Given the description of an element on the screen output the (x, y) to click on. 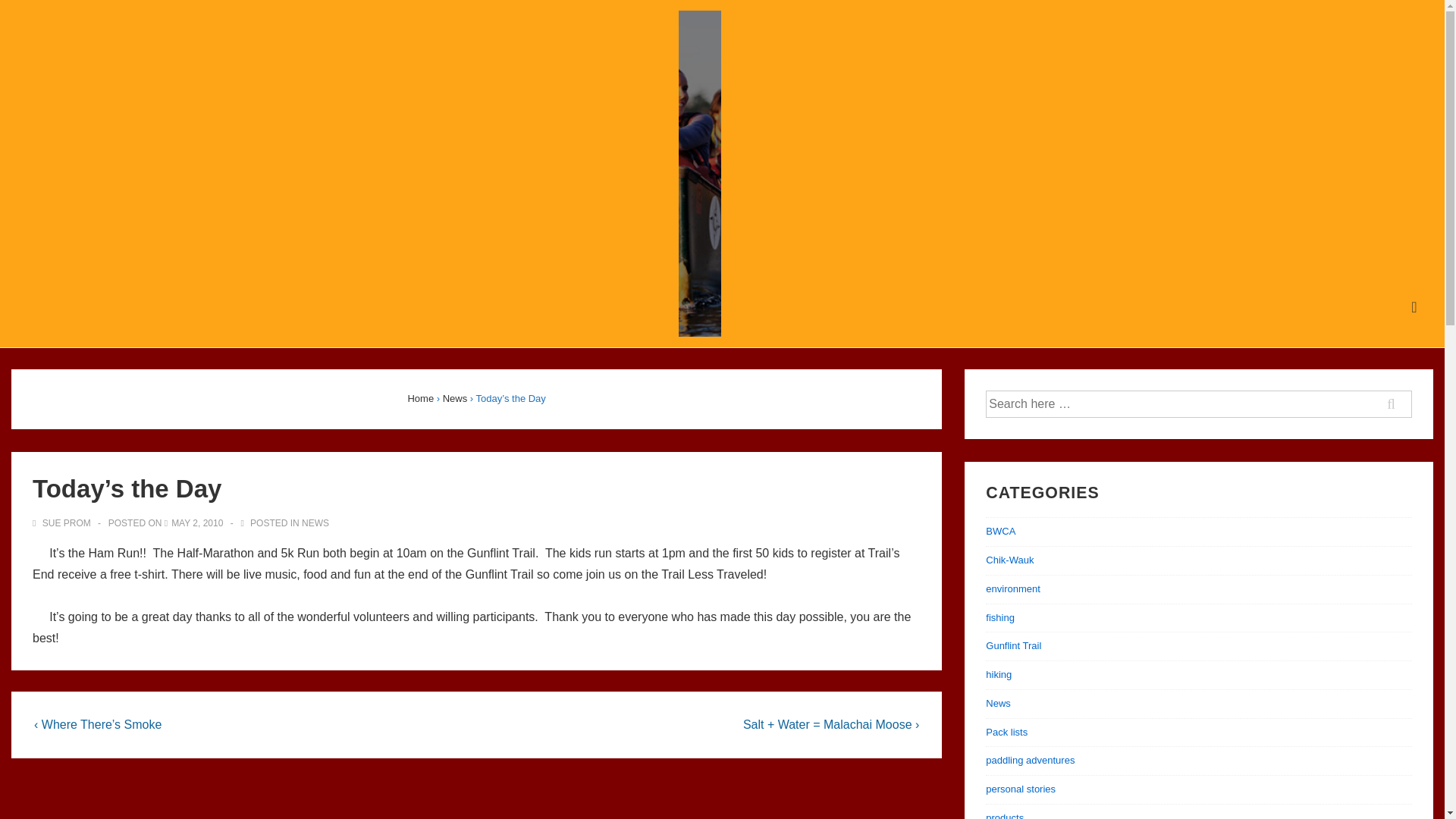
View all posts by Sue Prom (62, 522)
paddling adventures (1029, 759)
MENU (1414, 307)
BWCA (999, 531)
MAY 2, 2010 (196, 522)
News (454, 398)
products (1004, 815)
Gunflint Trail (1013, 645)
personal stories (1020, 788)
fishing (999, 617)
Pack lists (1006, 731)
News (997, 703)
SUE PROM (62, 522)
hiking (998, 674)
NEWS (315, 522)
